Given the description of an element on the screen output the (x, y) to click on. 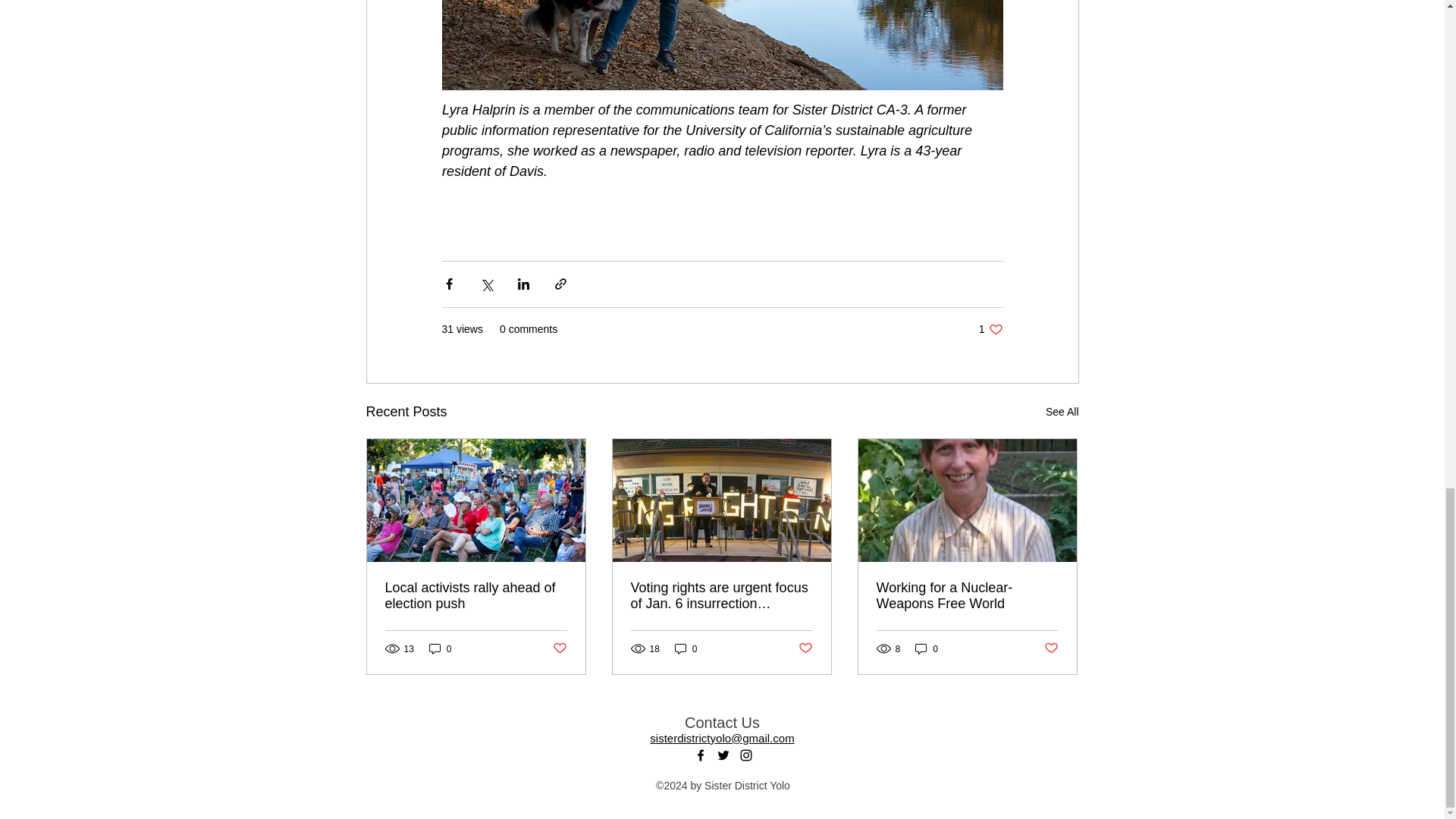
See All (1061, 412)
Post not marked as liked (804, 648)
0 (685, 648)
Local activists rally ahead of election push (990, 329)
0 (476, 595)
0 (926, 648)
Post not marked as liked (440, 648)
Post not marked as liked (558, 648)
